Given the description of an element on the screen output the (x, y) to click on. 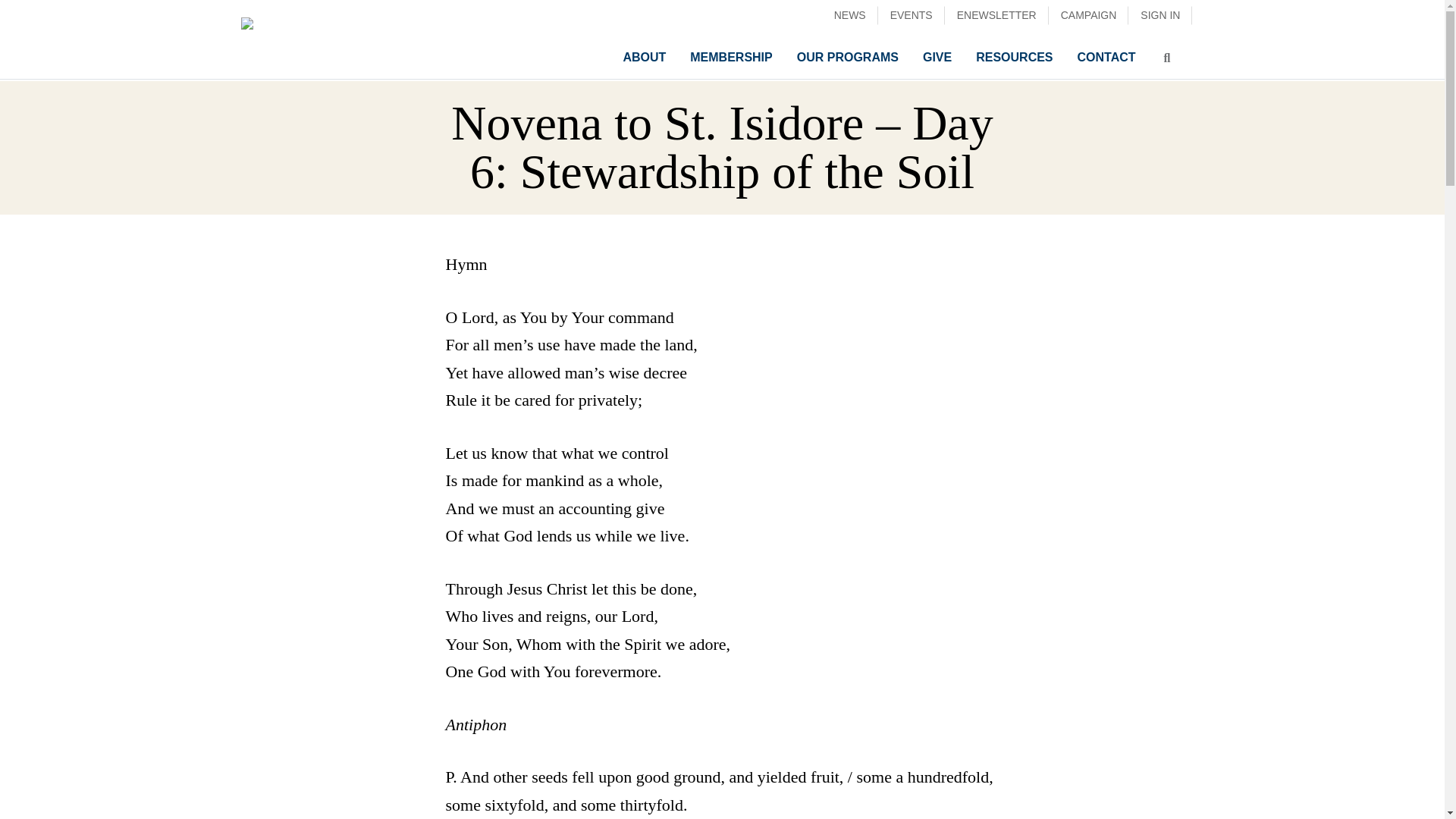
OUR PROGRAMS (847, 57)
MEMBERSHIP (730, 57)
CAMPAIGN (1088, 15)
NEWS (850, 15)
EVENTS (911, 15)
CONTACT (1106, 57)
ENEWSLETTER (996, 15)
ABOUT (644, 57)
RESOURCES (1013, 57)
SIGN IN (1159, 15)
GIVE (937, 57)
